Given the description of an element on the screen output the (x, y) to click on. 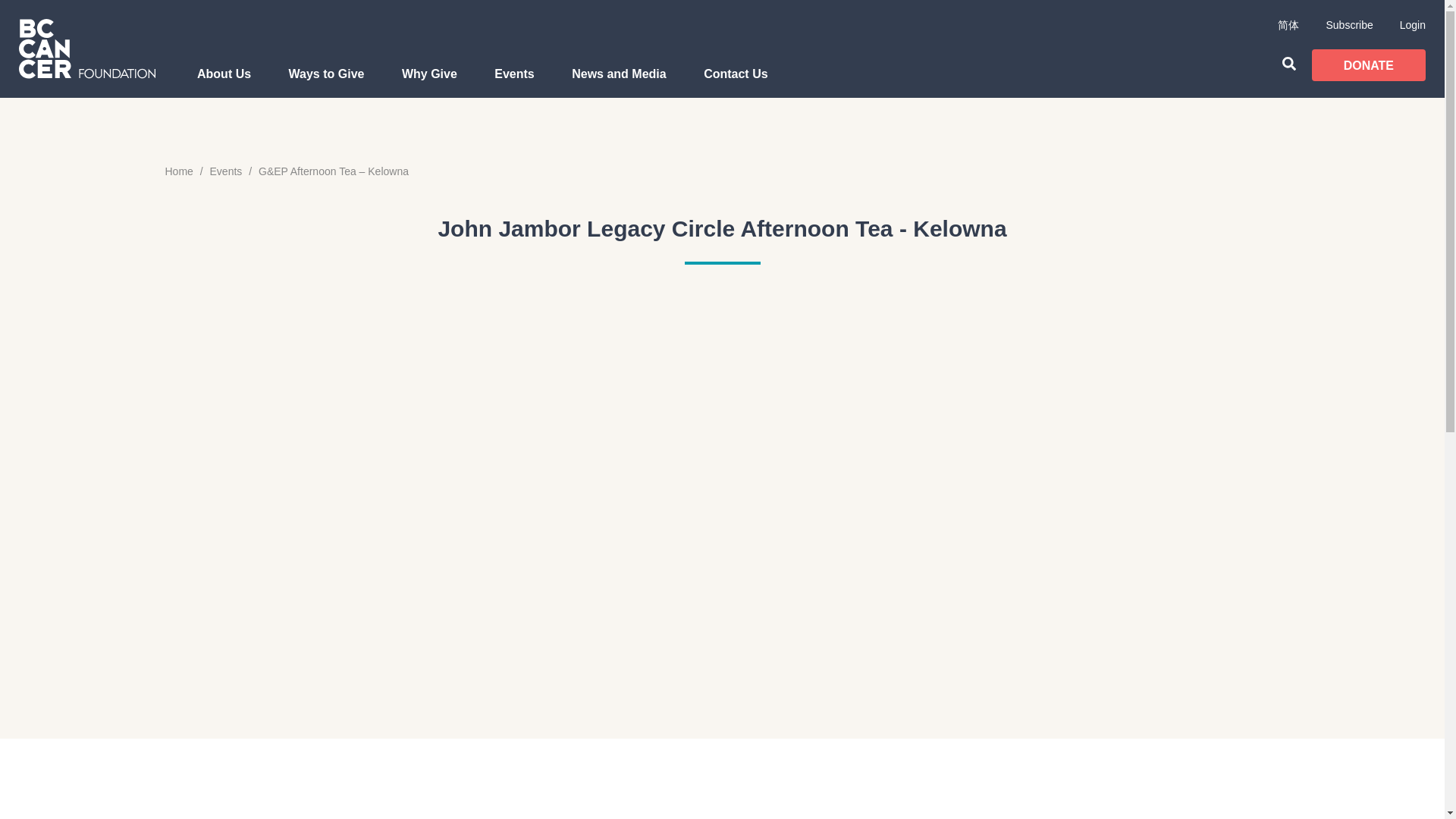
Ways to Give (326, 82)
Events (226, 171)
Login (1412, 24)
Events (513, 82)
Subscribe (1348, 24)
About Us (223, 82)
Home (179, 171)
News and Media (618, 82)
Why Give (429, 82)
